Given the description of an element on the screen output the (x, y) to click on. 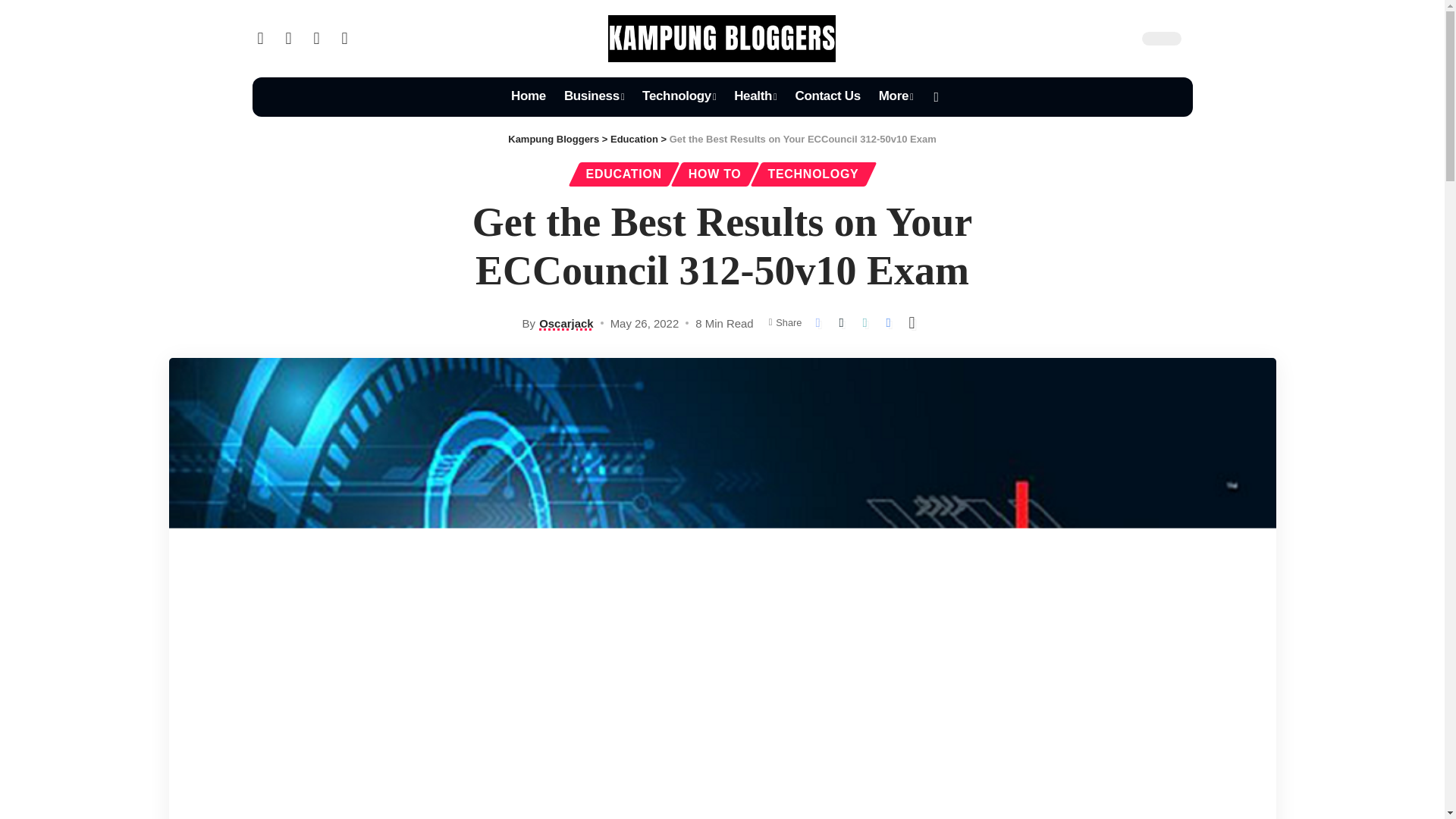
Technology (679, 96)
Home (528, 96)
Business (593, 96)
Health (755, 96)
